Given the description of an element on the screen output the (x, y) to click on. 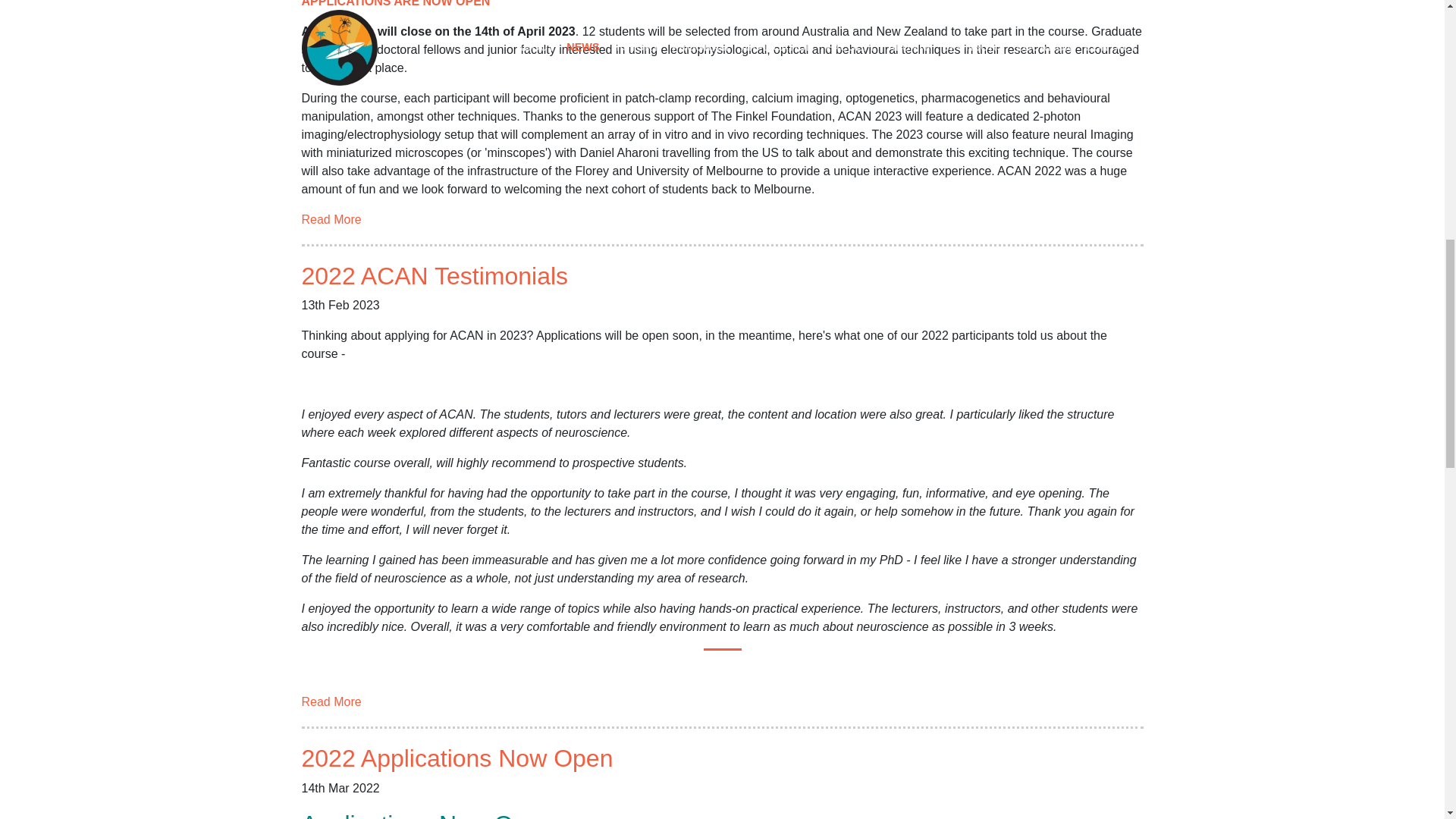
2022 Applications Now Open (456, 758)
Read More (331, 701)
2022 ACAN Testimonials (435, 275)
APPLICATIONS ARE NOW OPEN (395, 3)
Read More (331, 219)
Read More (331, 219)
Read More (331, 701)
